Given the description of an element on the screen output the (x, y) to click on. 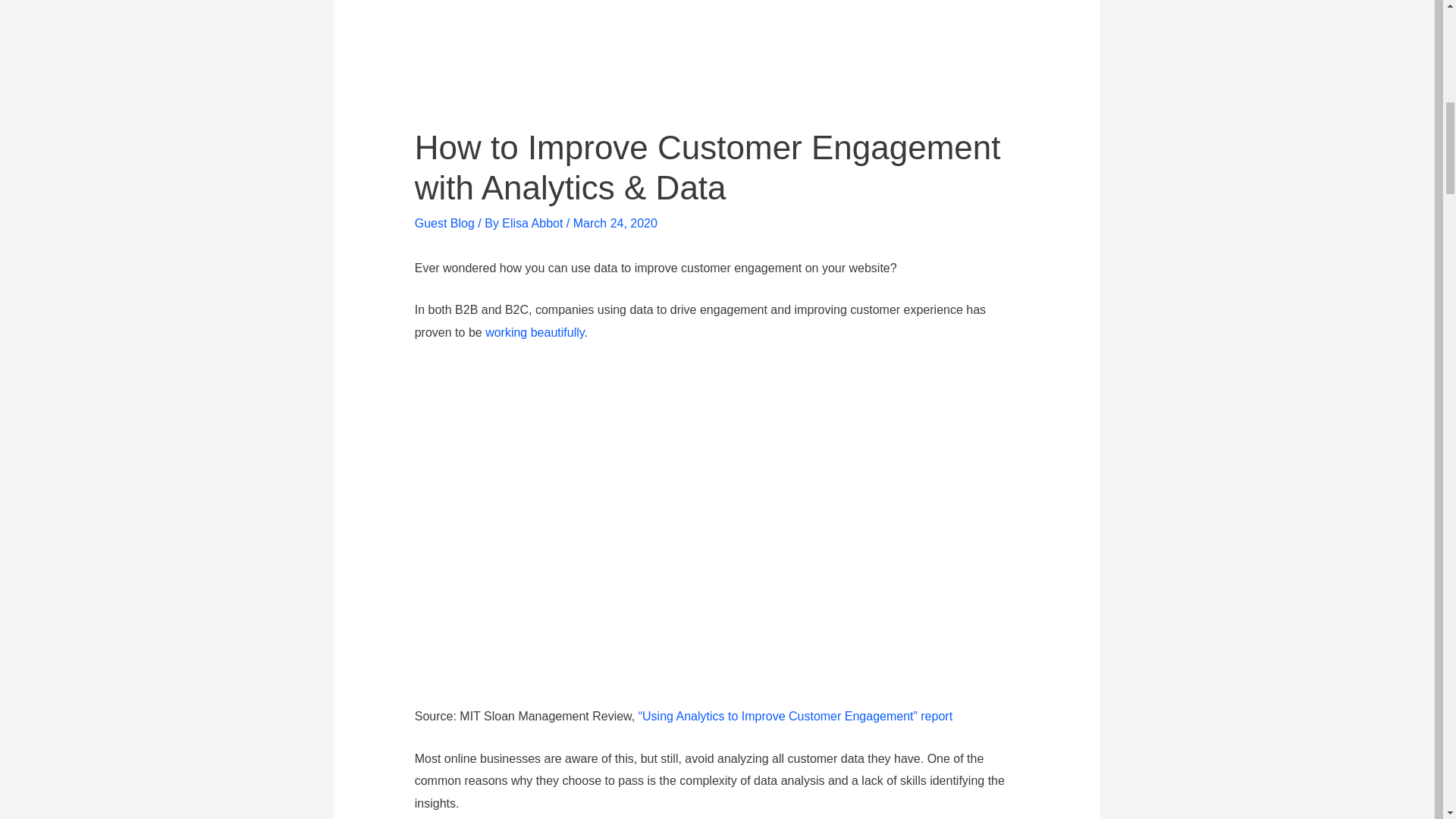
working beautifully (533, 332)
Guest Blog (444, 223)
Elisa Abbot (534, 223)
View all posts by Elisa Abbot (534, 223)
